Given the description of an element on the screen output the (x, y) to click on. 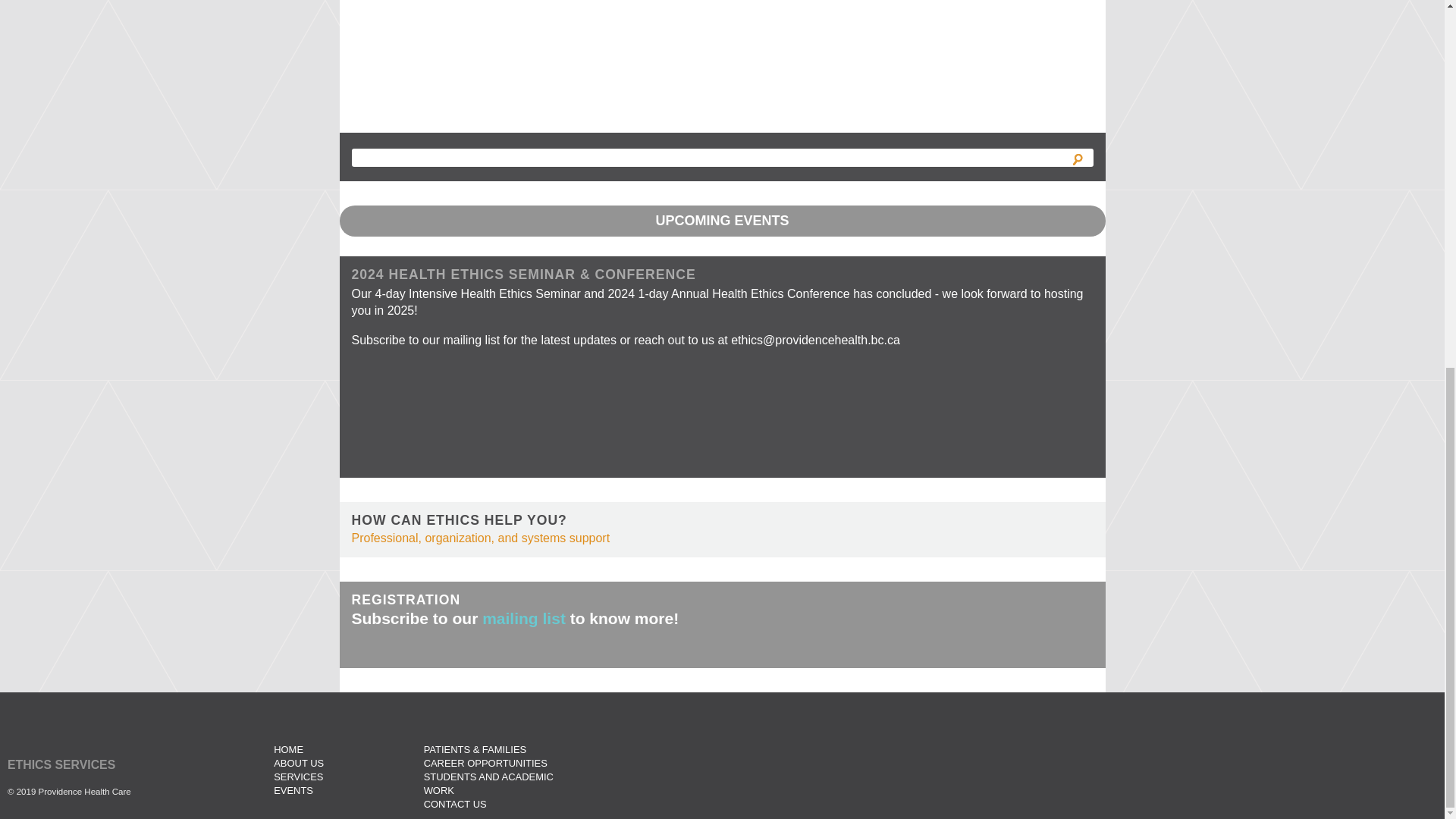
Enter the terms you wish to search for. (722, 157)
Search (1077, 159)
